Given the description of an element on the screen output the (x, y) to click on. 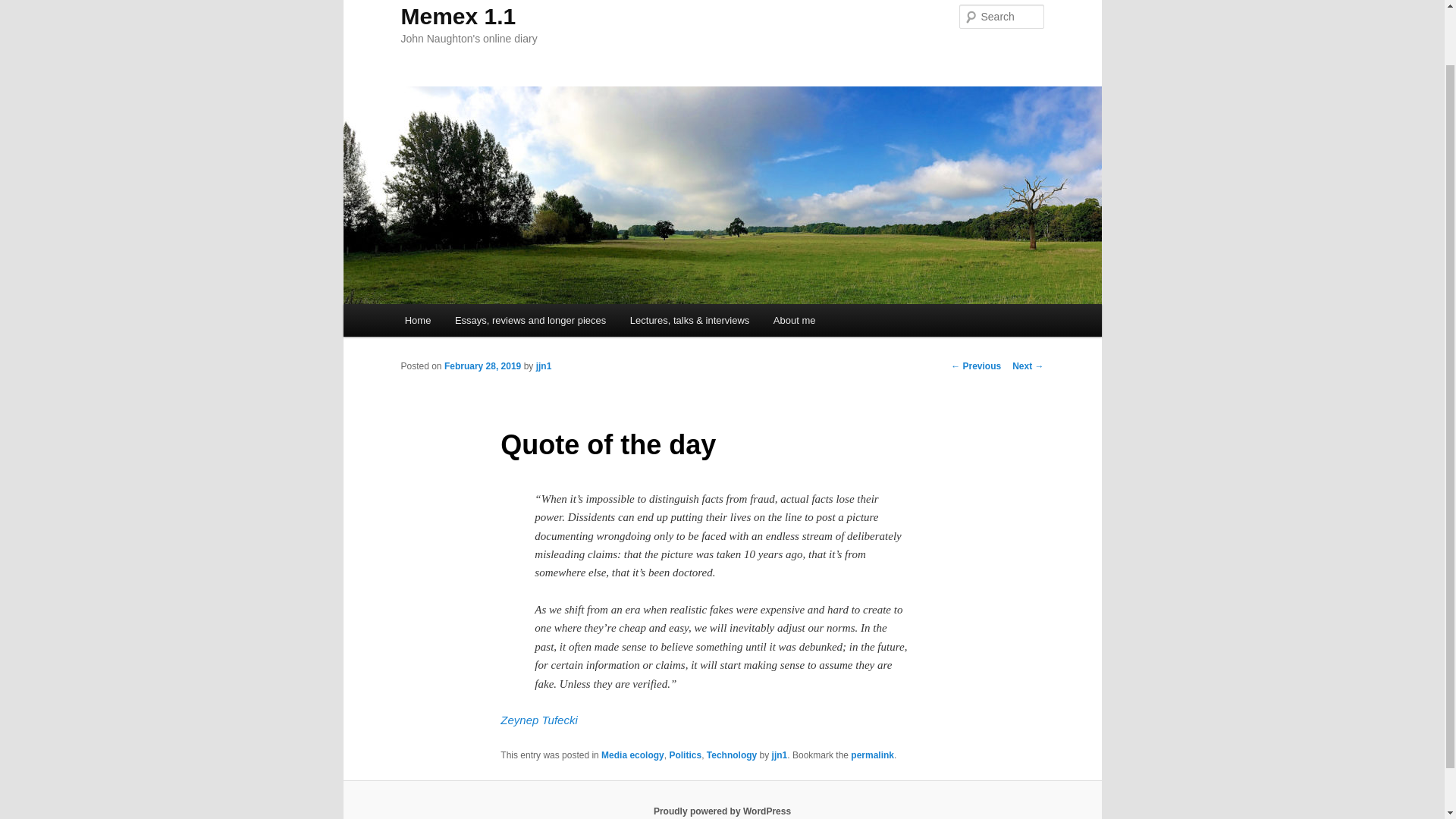
About me (794, 319)
Proudly powered by WordPress (721, 810)
jjn1 (543, 366)
Semantic Personal Publishing Platform (721, 810)
Essays, reviews and longer pieces (529, 319)
Politics (684, 755)
Home (417, 319)
jjn1 (779, 755)
Memex 1.1 (457, 16)
